Given the description of an element on the screen output the (x, y) to click on. 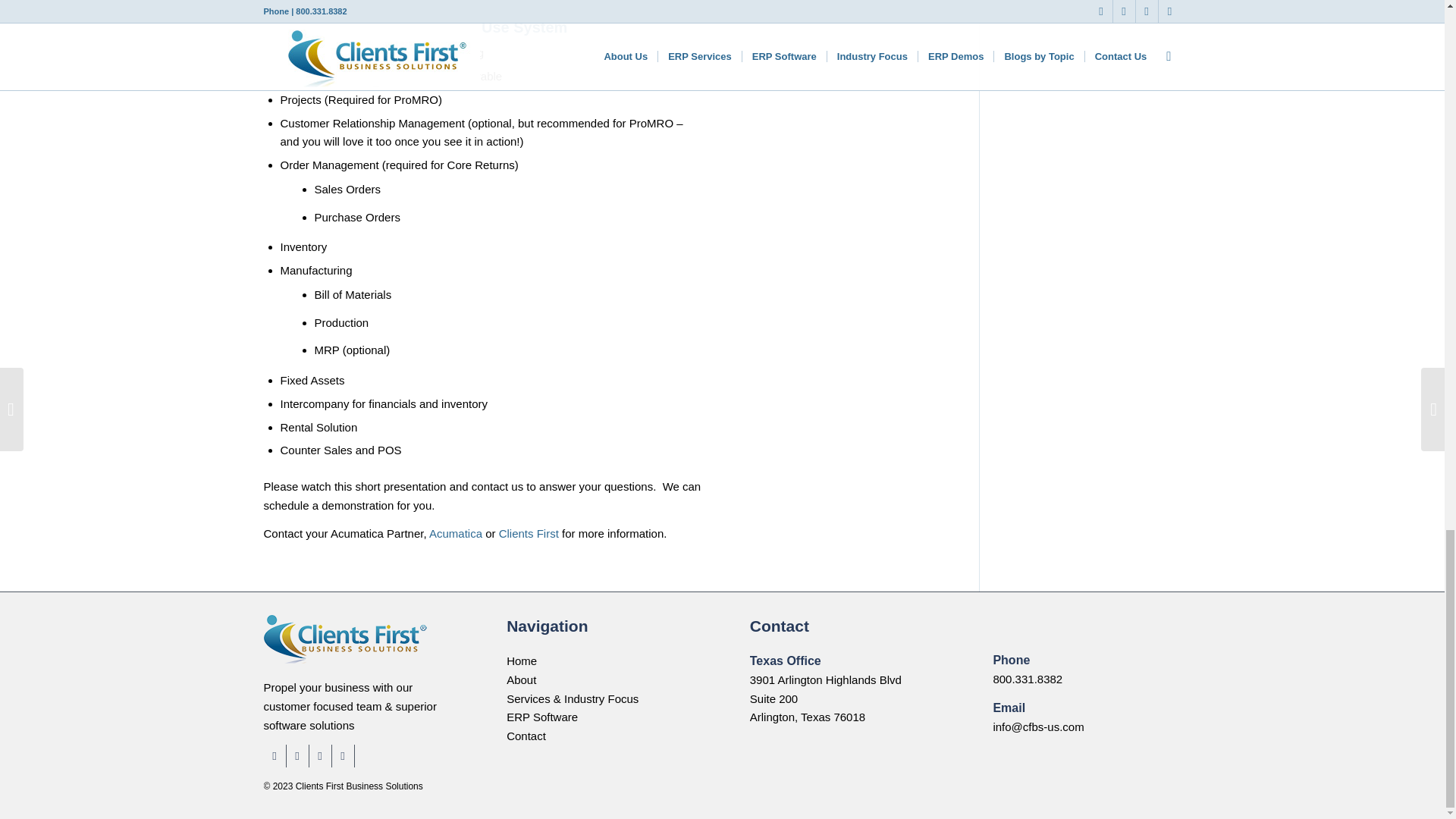
Youtube (342, 755)
Facebook (274, 755)
Twitter (319, 755)
LinkedIn (297, 755)
